Given the description of an element on the screen output the (x, y) to click on. 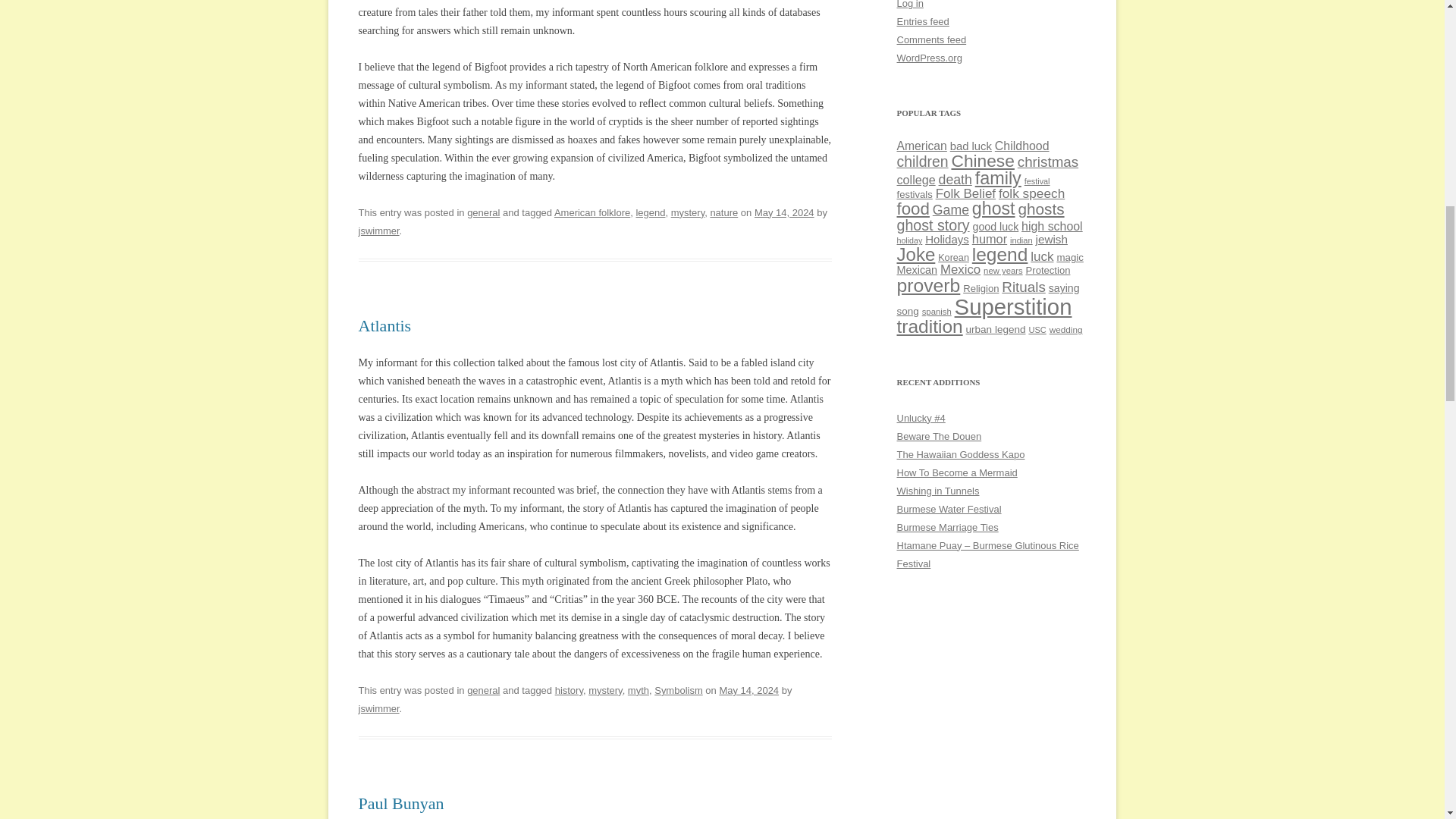
general (483, 690)
10:50 am (748, 690)
jswimmer (378, 230)
history (568, 690)
jswimmer (378, 708)
mystery (604, 690)
View all posts by jswimmer (378, 230)
May 14, 2024 (748, 690)
10:50 am (783, 212)
May 14, 2024 (783, 212)
general (483, 212)
nature (724, 212)
myth (638, 690)
Symbolism (678, 690)
Atlantis (384, 325)
